Given the description of an element on the screen output the (x, y) to click on. 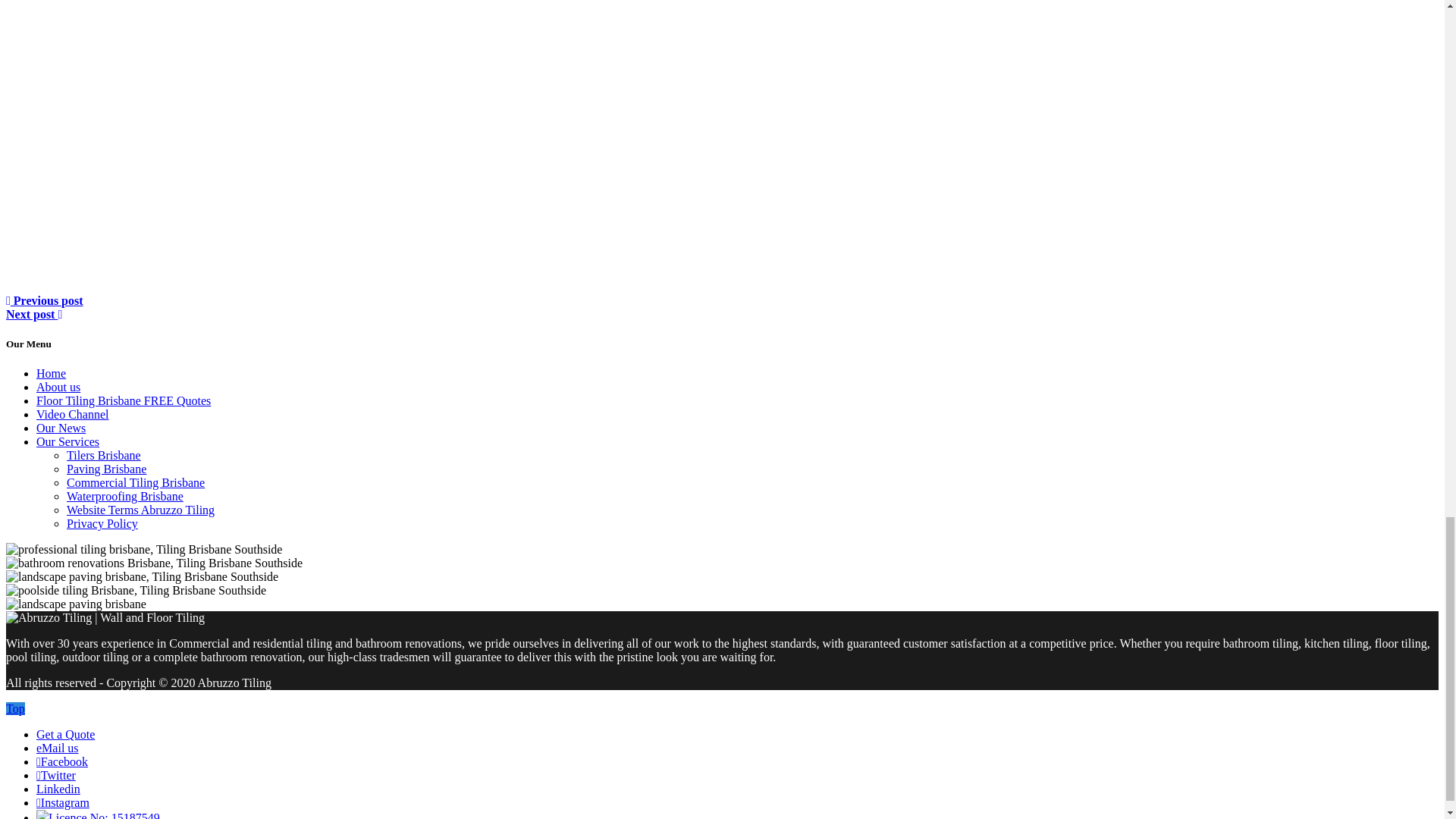
Commercial Tiling Brisbane (135, 481)
Floor Tiling Brisbane FREE Quotes (123, 400)
Paving Brisbane (106, 468)
Our News (60, 427)
Top (14, 707)
About us (58, 386)
Privacy Policy (102, 522)
 Previous post (43, 300)
Home (50, 373)
Website Terms Abruzzo Tiling (140, 509)
Next post  (33, 314)
Tilers Brisbane (103, 454)
Video Channel (71, 413)
Our Services (67, 440)
